Given the description of an element on the screen output the (x, y) to click on. 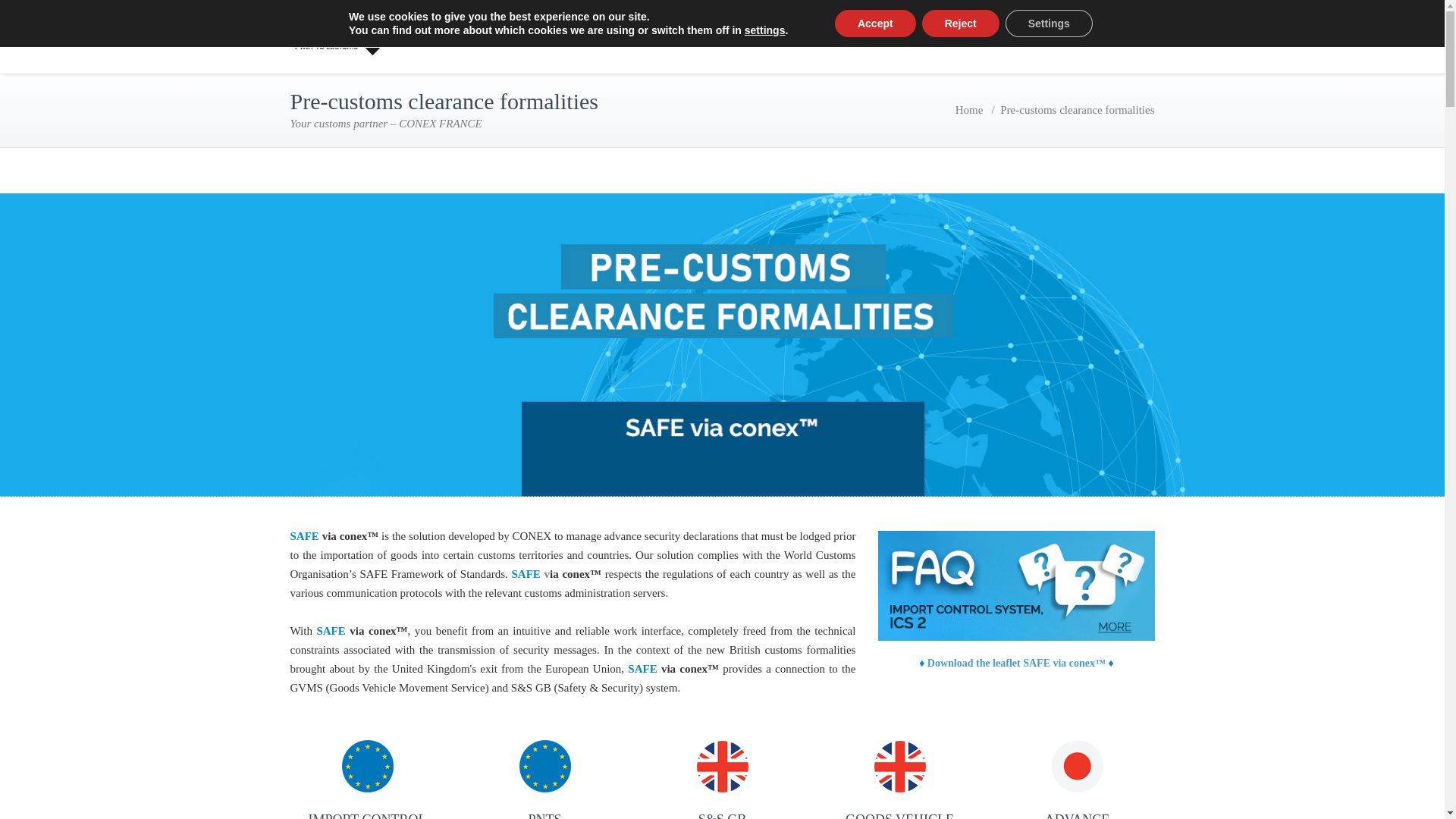
IMPORT CONTROL SYSTEM - SAFE via CONEX (544, 766)
OUR SERVICES (776, 36)
Home (969, 110)
WHY CONEX (511, 36)
IMPORT CONTROL SYSTEM - SAFE via CONEX (366, 766)
ADVANCE FILING RULE - SAFE via CONEX (1076, 766)
OUR SOLUTIONS (640, 36)
GROUP (884, 36)
